Given the description of an element on the screen output the (x, y) to click on. 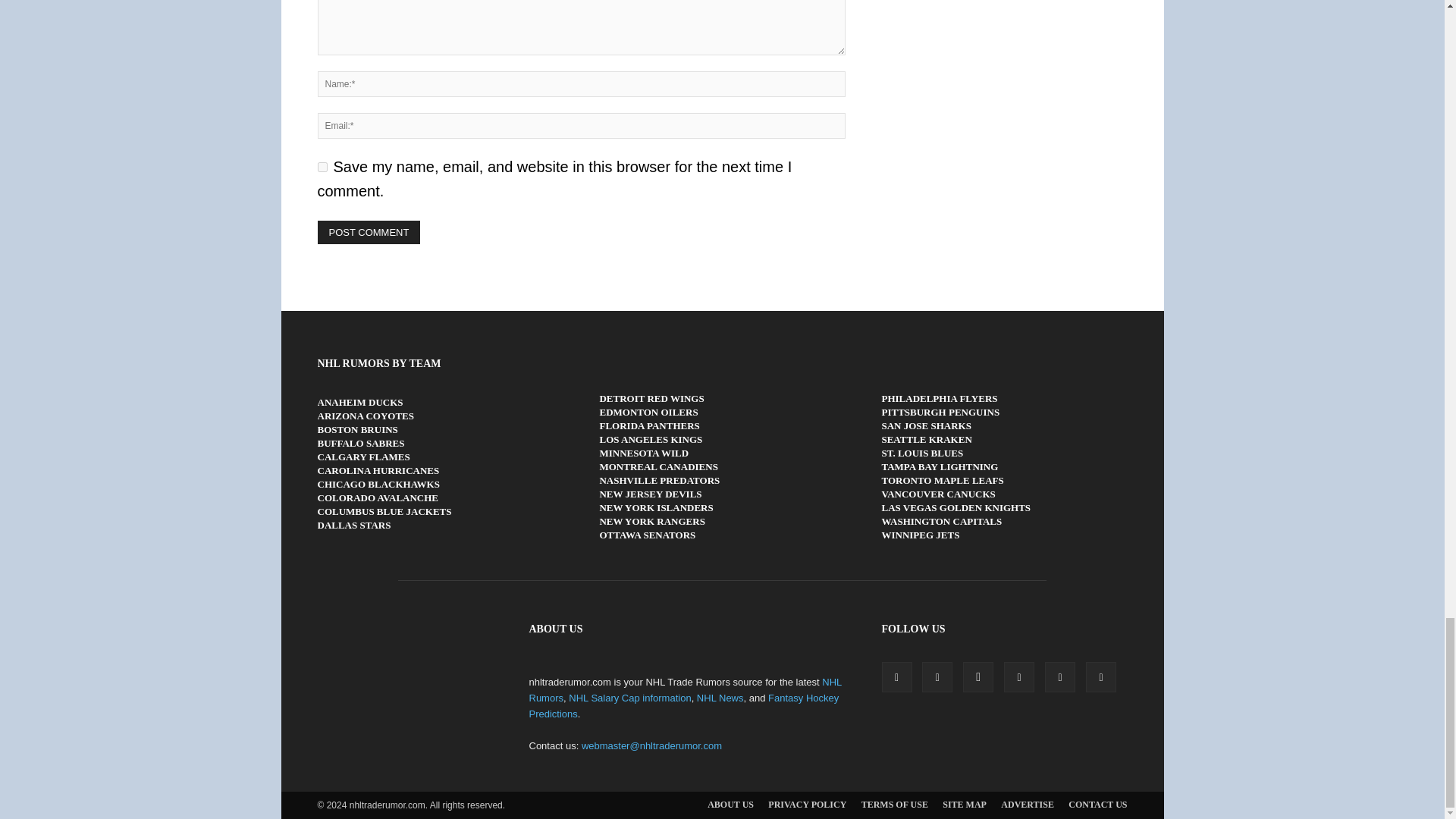
Post Comment (368, 232)
yes (321, 166)
